Given the description of an element on the screen output the (x, y) to click on. 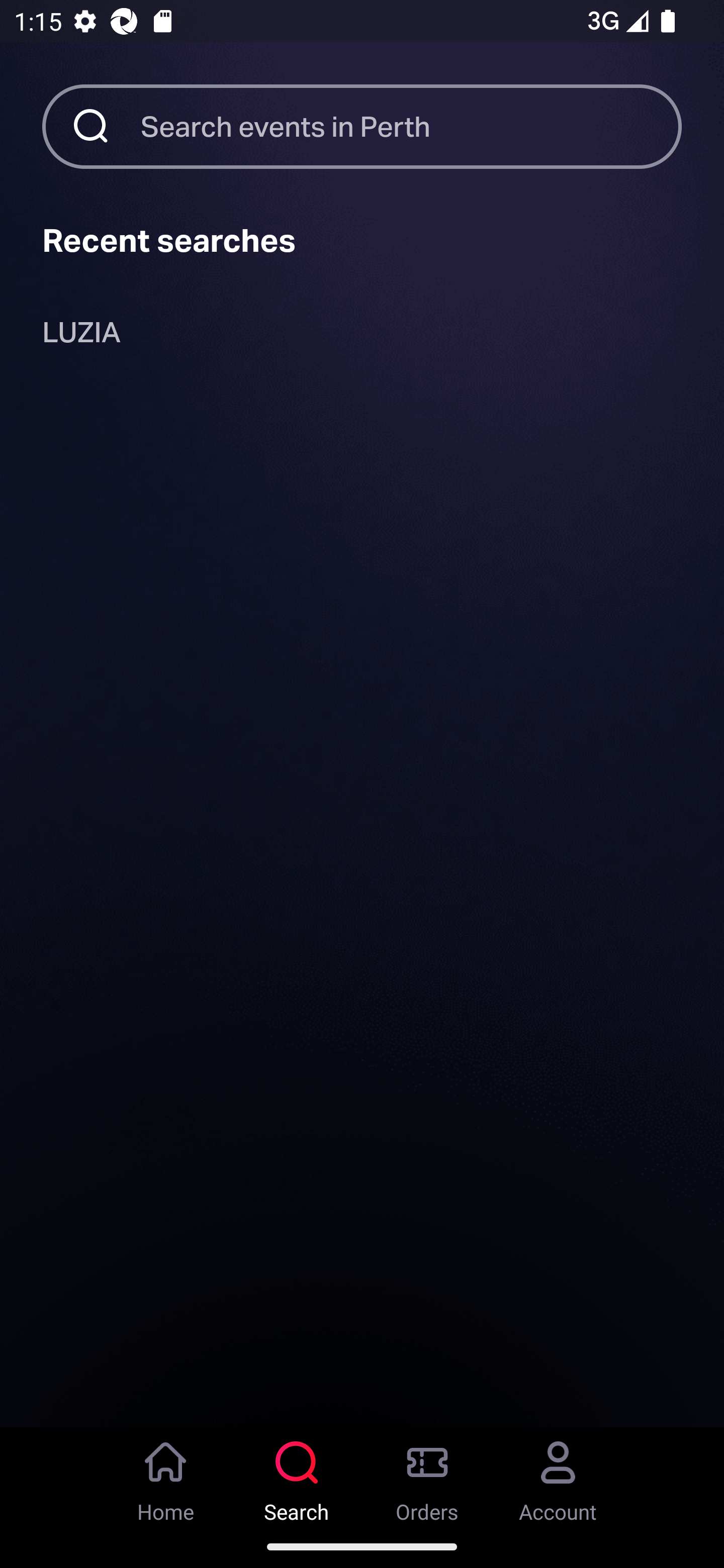
Search events in Perth (411, 126)
LUZIA (80, 336)
Home (165, 1475)
Orders (427, 1475)
Account (558, 1475)
